Given the description of an element on the screen output the (x, y) to click on. 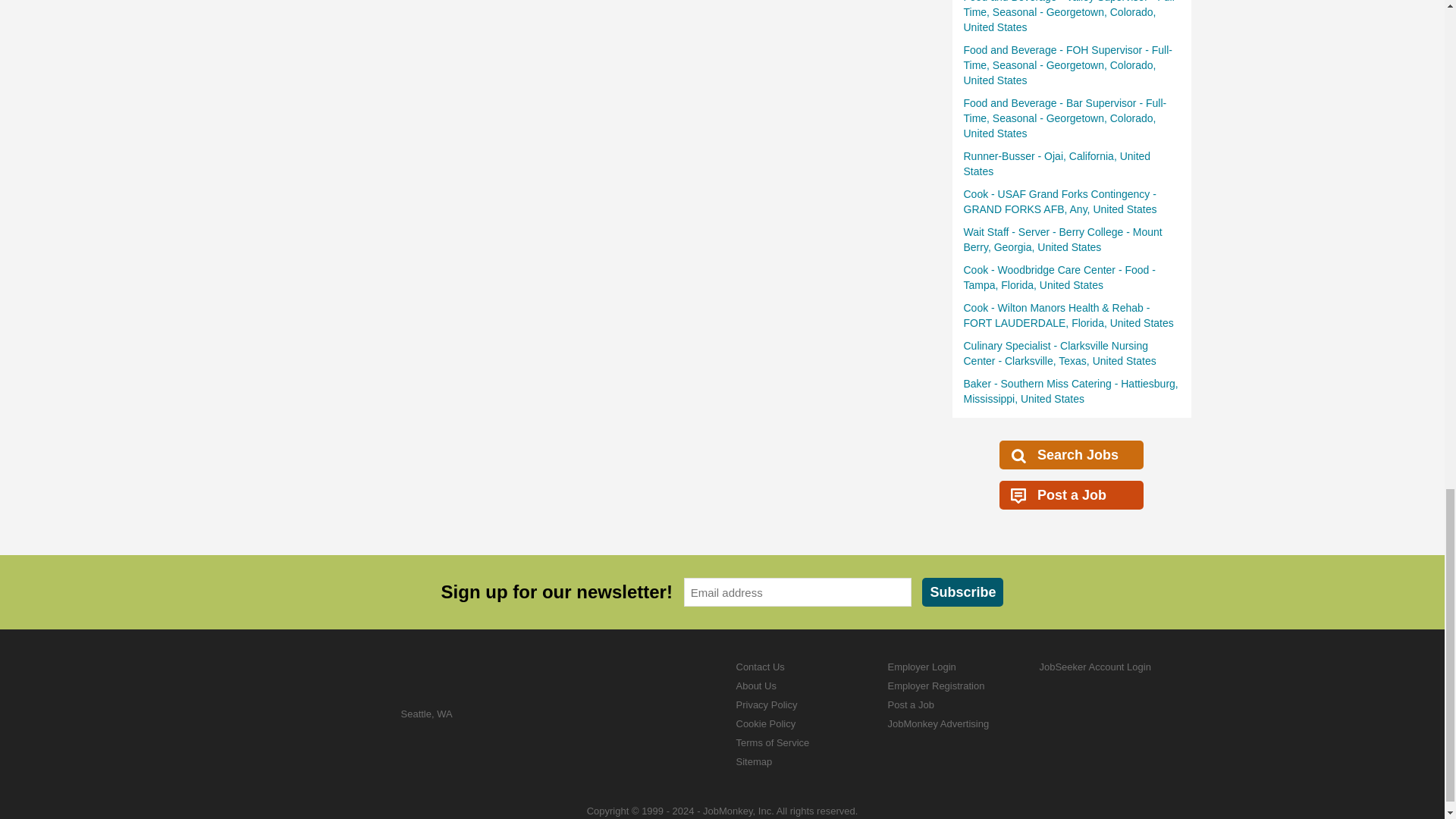
Subscribe (962, 592)
